Given the description of an element on the screen output the (x, y) to click on. 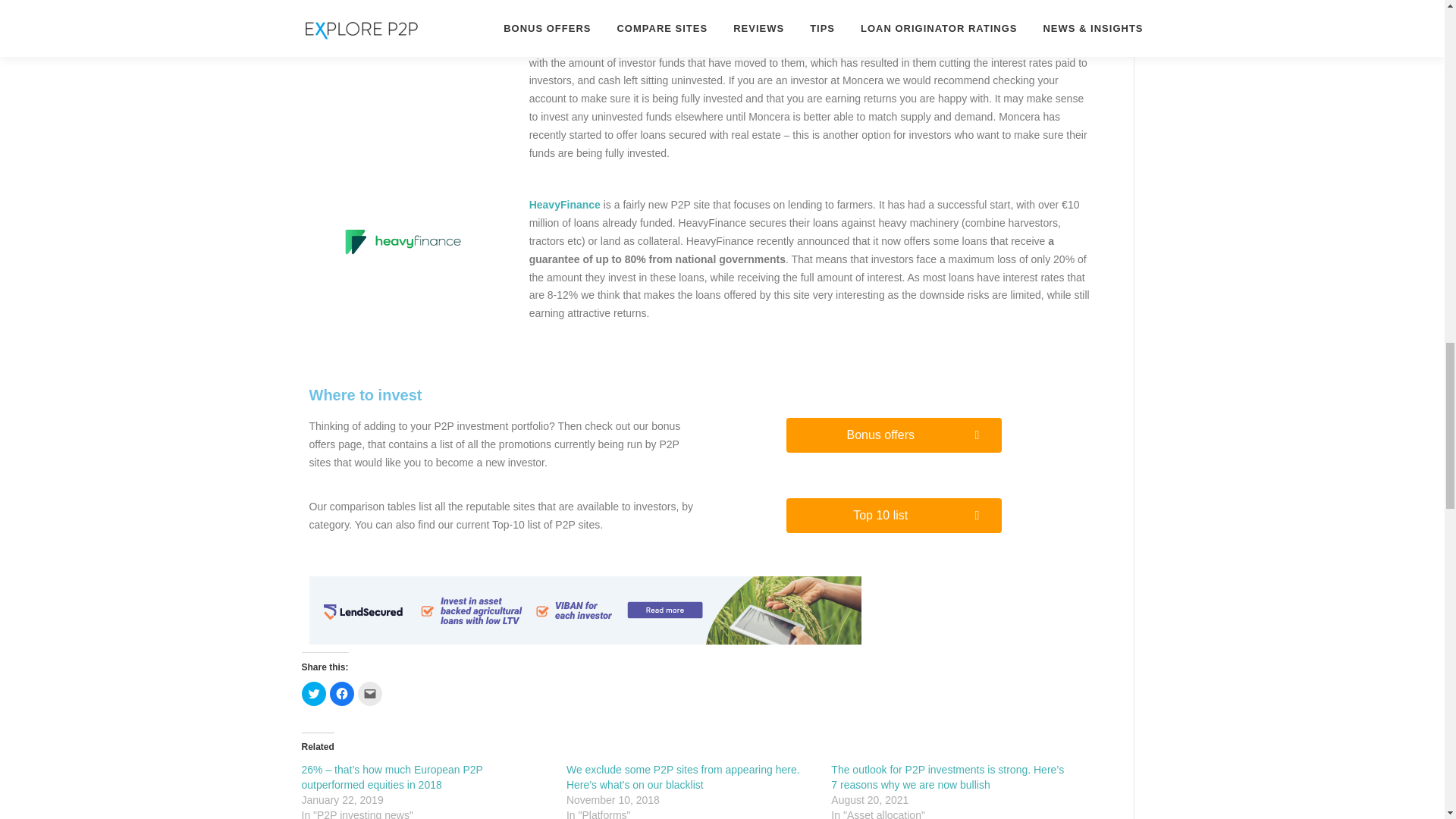
HeavyFinance (564, 204)
Click to share on Twitter (313, 693)
Click to email this to a friend (369, 693)
Bonus offers (893, 434)
Moncera (580, 26)
Top 10 list (893, 515)
Click to share on Facebook (341, 693)
